Given the description of an element on the screen output the (x, y) to click on. 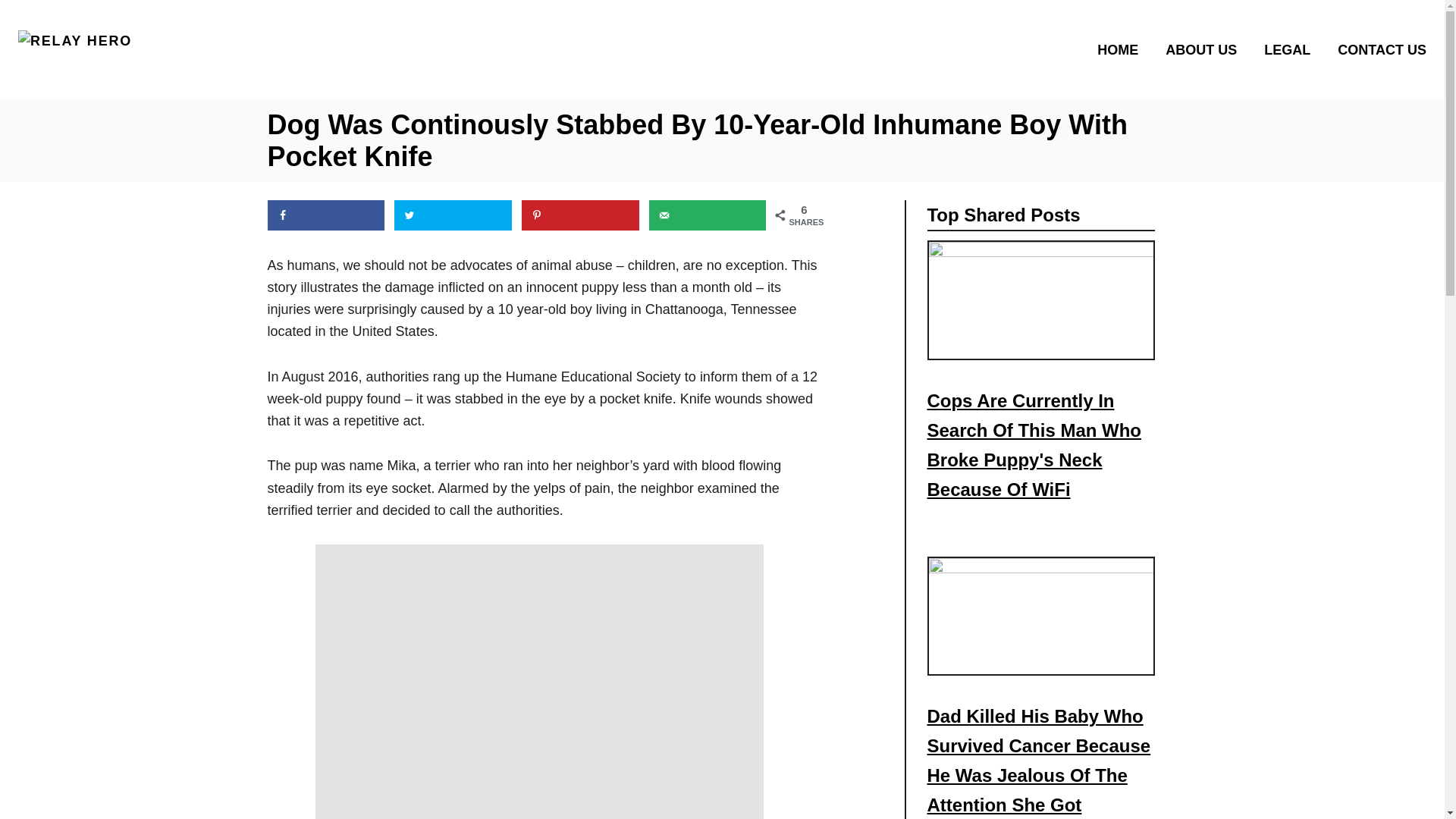
ABOUT US (1205, 49)
Share on Twitter (453, 214)
HOME (1121, 49)
LEGAL (1291, 49)
Send over email (708, 214)
Save to Pinterest (580, 214)
